Given the description of an element on the screen output the (x, y) to click on. 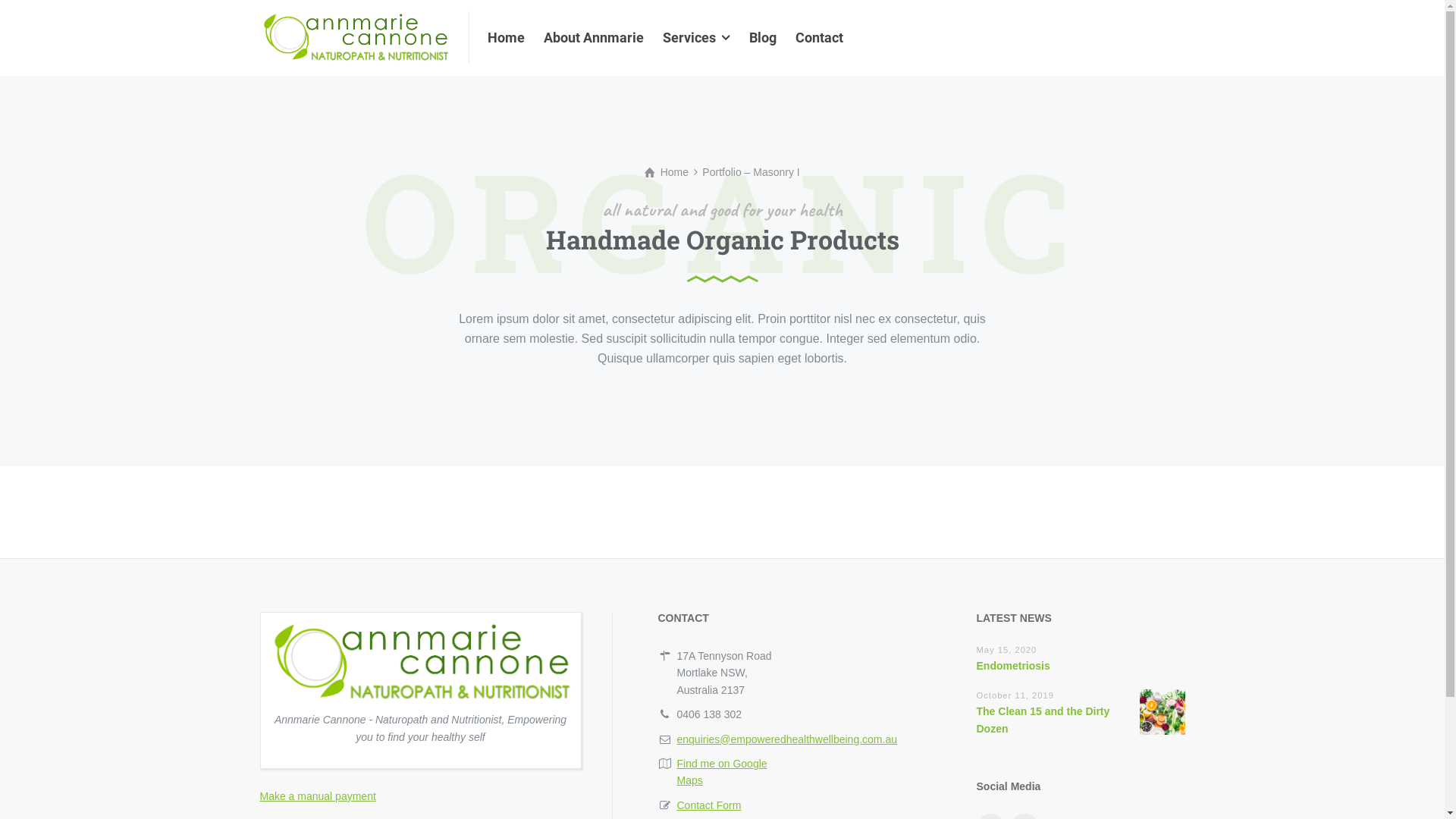
Make a manual payment Element type: text (317, 796)
The Clean 15 and the Dirty Dozen Element type: text (1043, 719)
Home Element type: text (510, 37)
About Annmarie Element type: text (593, 37)
Home Element type: text (666, 172)
Blog Element type: text (763, 37)
Find me on Google Maps Element type: text (721, 771)
Services Element type: text (696, 37)
enquiries@empoweredhealthwellbeing.com.au Element type: text (786, 739)
Contact Element type: text (814, 37)
Endometriosis Element type: text (1013, 665)
Contact Form Element type: text (708, 805)
